Given the description of an element on the screen output the (x, y) to click on. 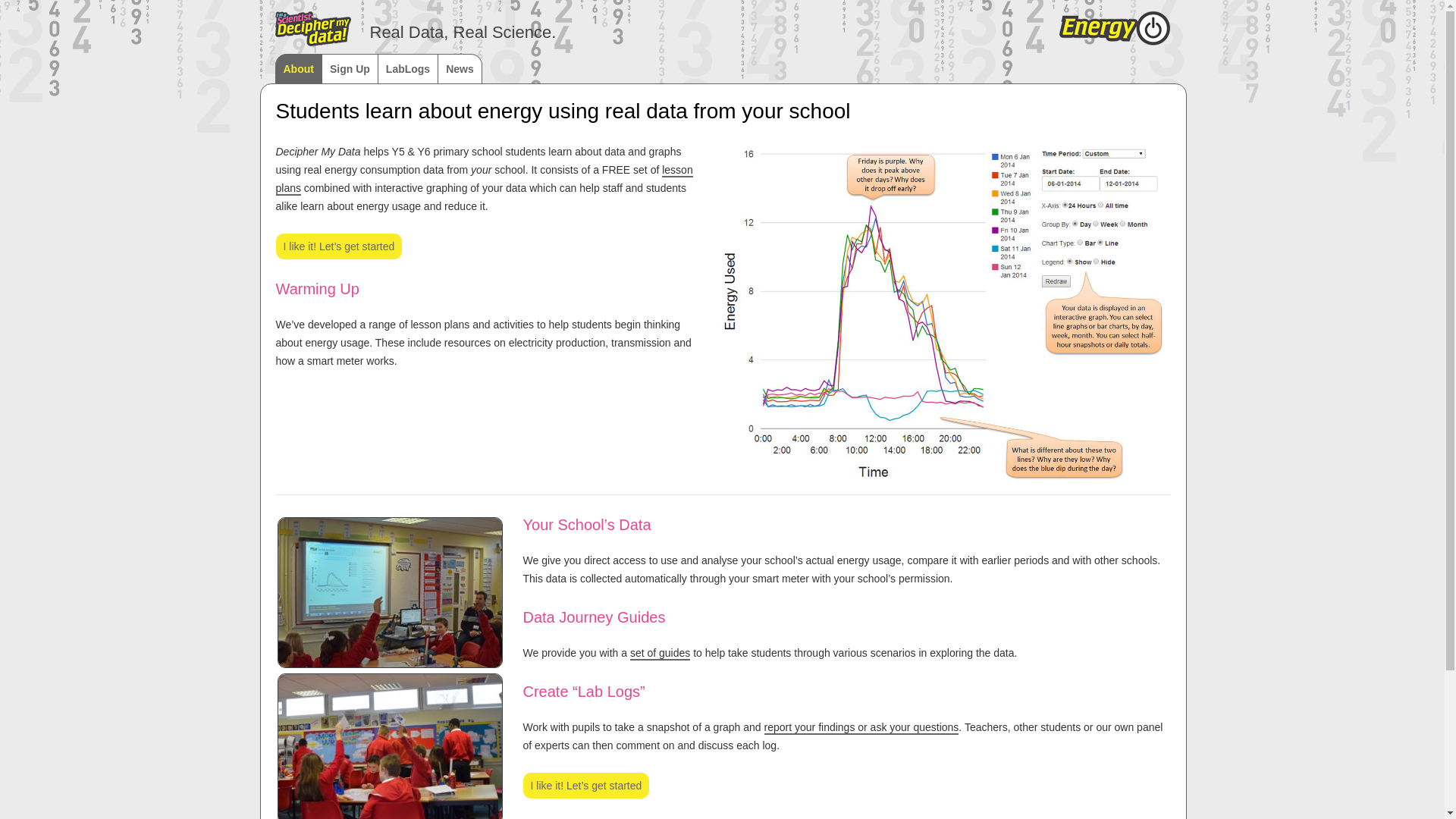
LabLogs (407, 68)
Sign Up (339, 246)
About (297, 68)
lesson plans (484, 179)
LabLogs (861, 727)
News (459, 68)
report your findings or ask your questions (861, 727)
Lesson Plans (660, 653)
Sign Up (349, 68)
